Given the description of an element on the screen output the (x, y) to click on. 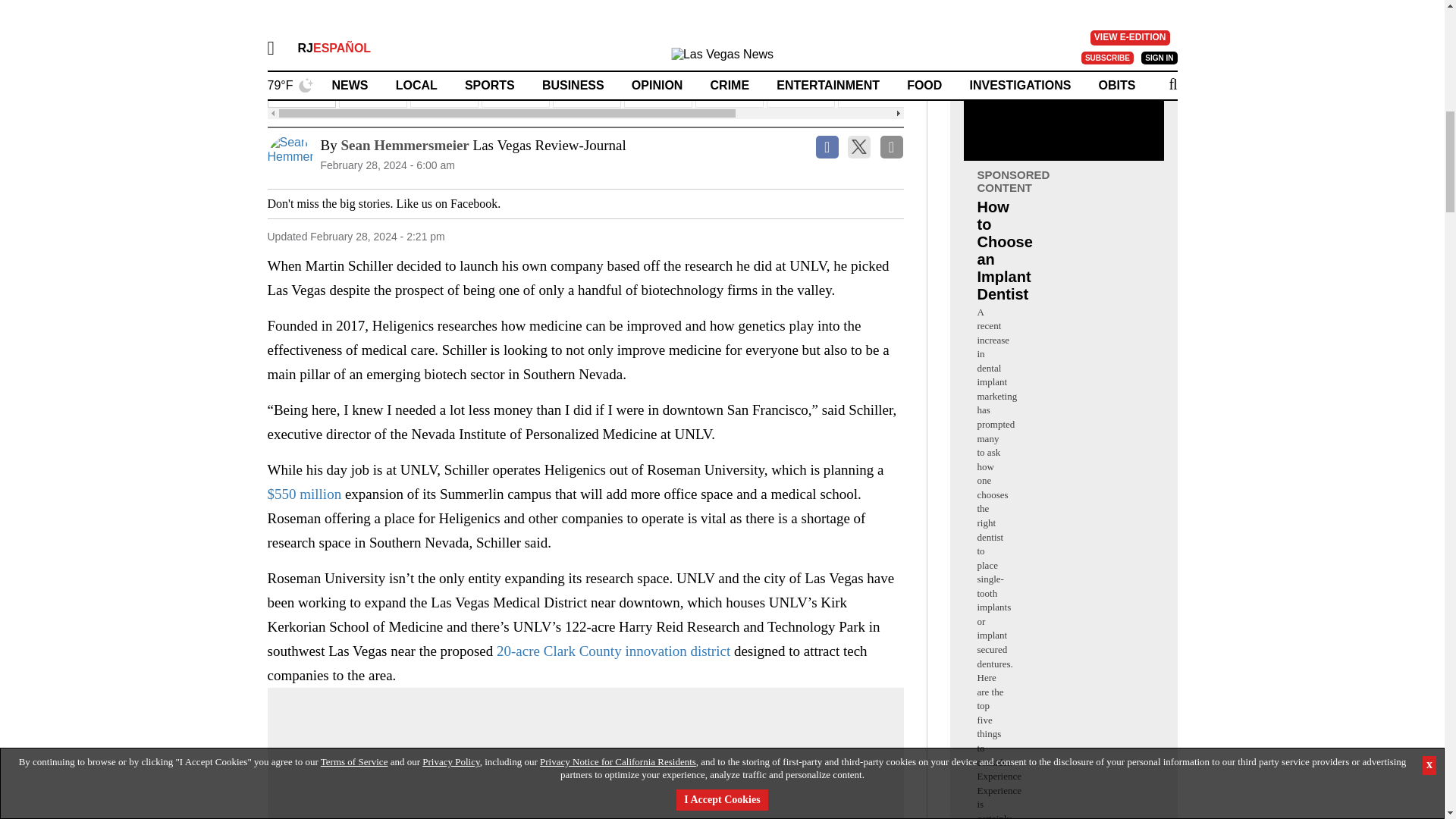
facebook like widget (557, 203)
